Given the description of an element on the screen output the (x, y) to click on. 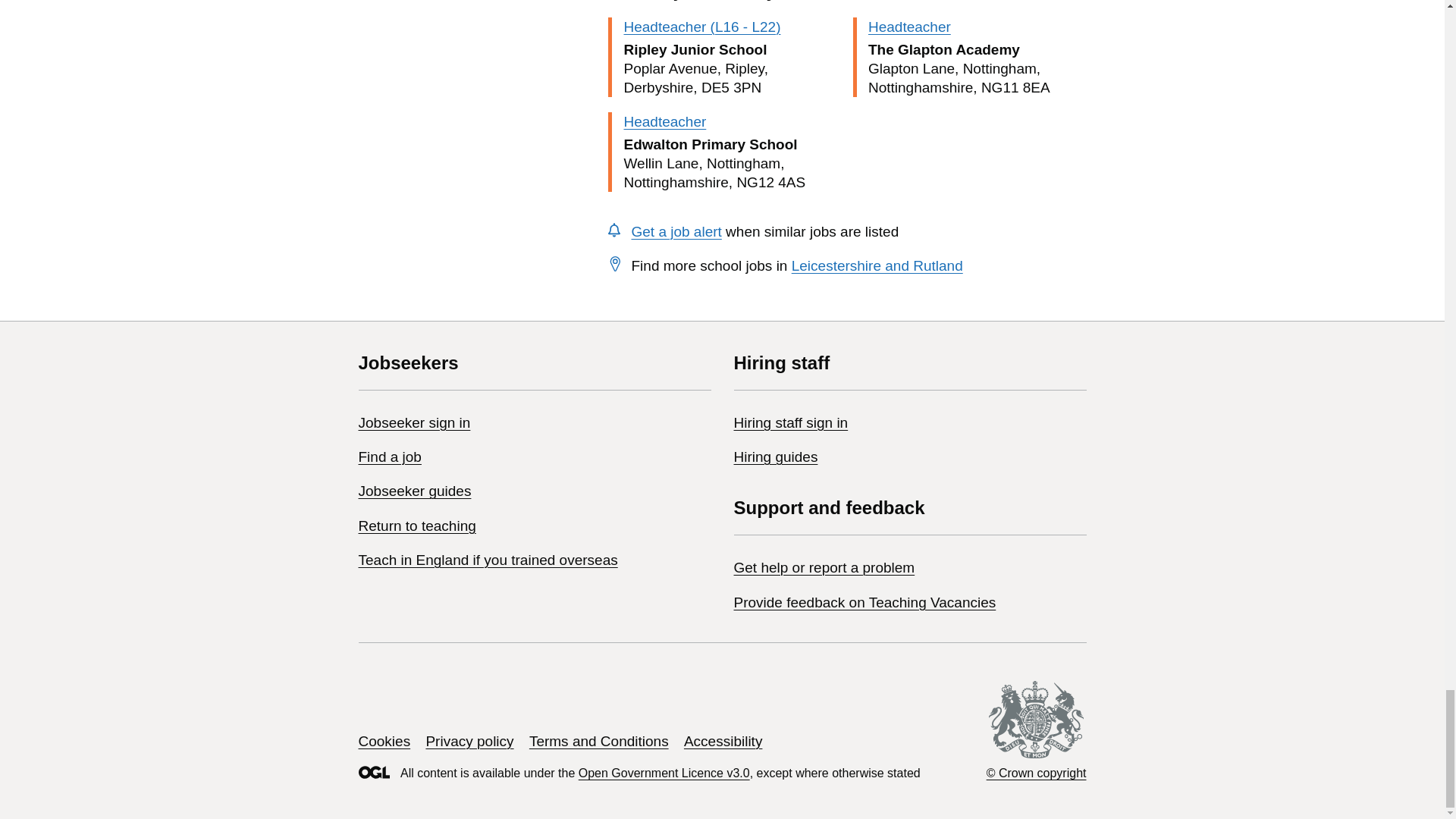
Get a job alert (675, 231)
Headteacher (664, 121)
Find a job (389, 456)
Headteacher (908, 26)
Jobseeker guides (414, 490)
Jobseeker sign in (414, 422)
Teach in England if you trained overseas (487, 560)
Return to teaching (417, 525)
Leicestershire and Rutland (877, 265)
